Given the description of an element on the screen output the (x, y) to click on. 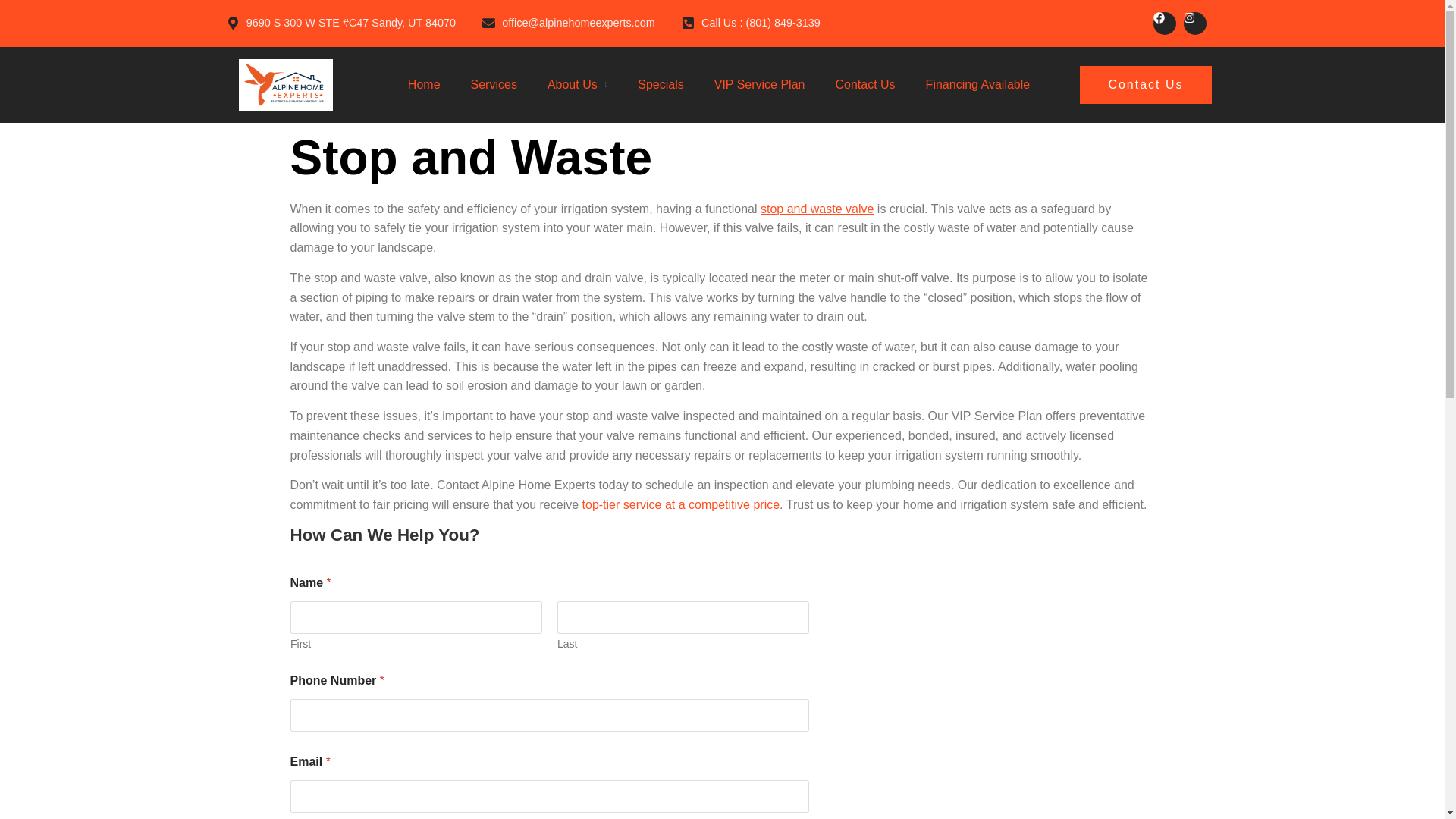
top-tier service at a competitive price (681, 504)
Services (493, 85)
Specials (659, 85)
About Us (571, 85)
VIP Service Plan (759, 85)
stop and waste valve (816, 208)
Financing Available (978, 85)
Contact Us (864, 85)
Home (424, 85)
Contact Us (1145, 85)
